Given the description of an element on the screen output the (x, y) to click on. 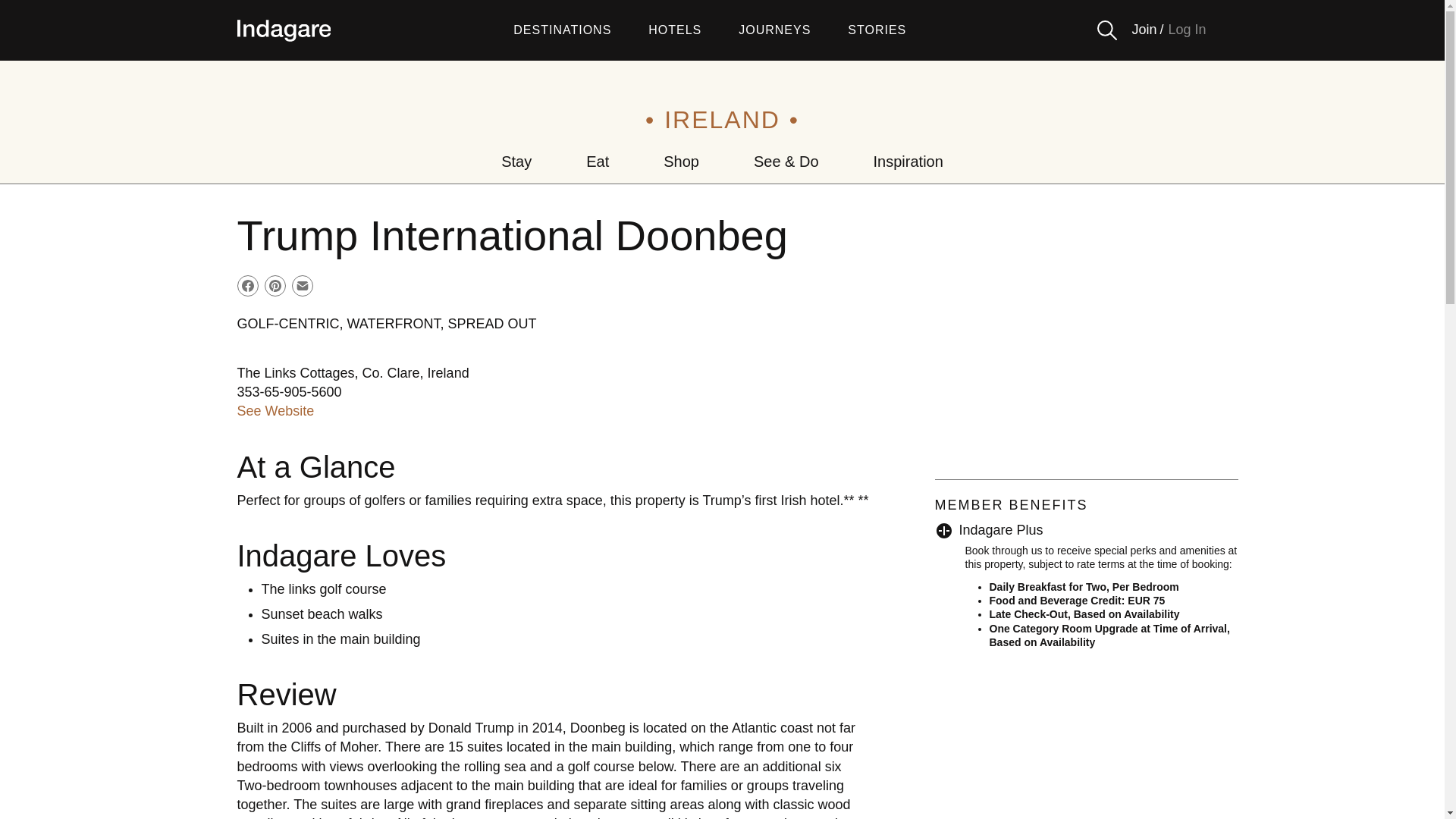
JOURNEYS (774, 30)
Join (1143, 29)
Inspiration (908, 161)
STORIES (876, 30)
See Website (274, 410)
Share via Facebook (246, 285)
Eat (597, 161)
DESTINATIONS (562, 30)
Share via Email (302, 285)
Share via Pinterest (274, 285)
HOTELS (674, 30)
Stay (516, 161)
Shop (681, 161)
IRELAND (721, 119)
Log In (1186, 29)
